Given the description of an element on the screen output the (x, y) to click on. 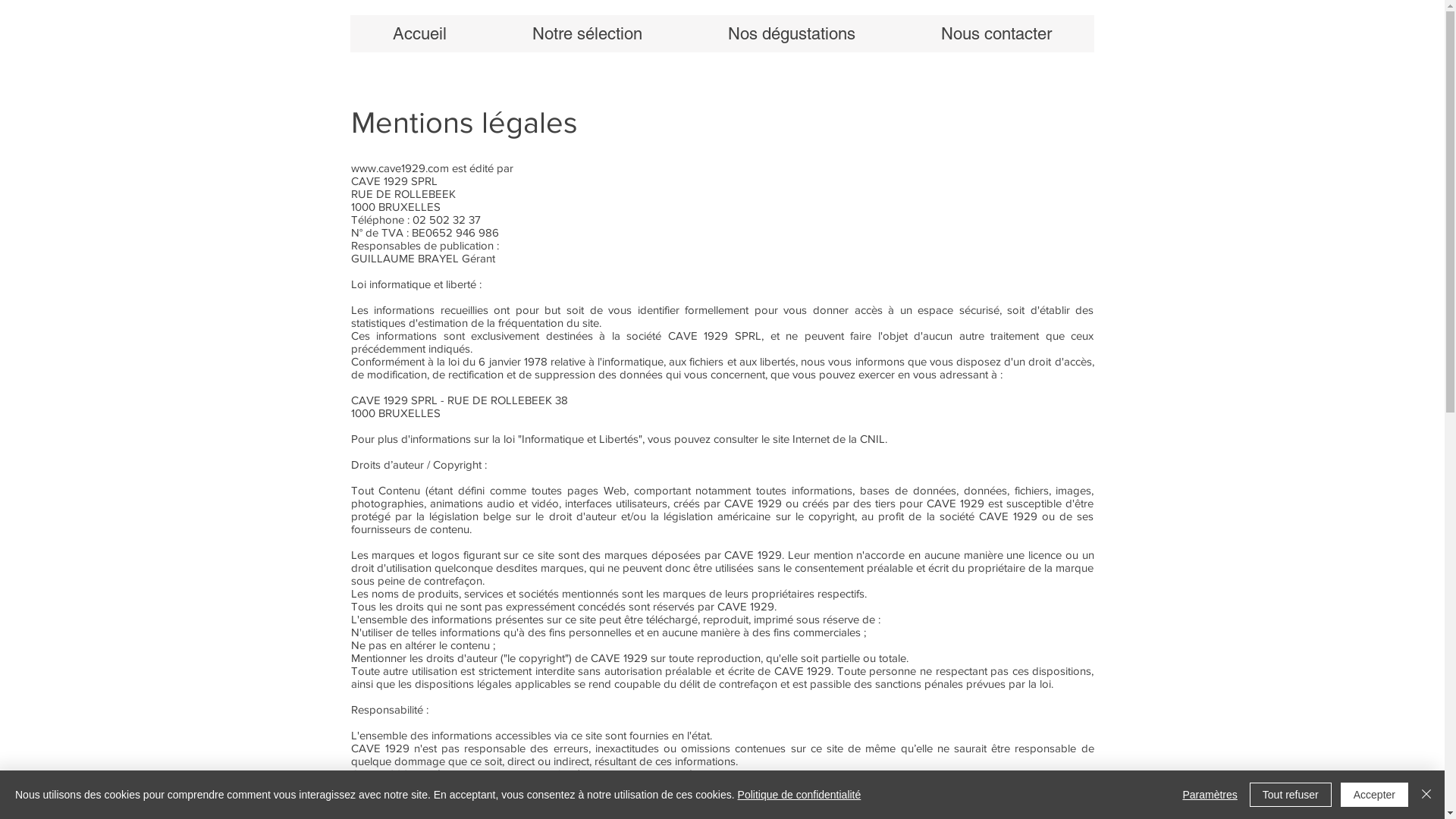
Accueil Element type: text (419, 33)
Nous contacter Element type: text (995, 33)
www.cave1929.com Element type: text (399, 167)
Accepter Element type: text (1374, 794)
Tout refuser Element type: text (1290, 794)
